Given the description of an element on the screen output the (x, y) to click on. 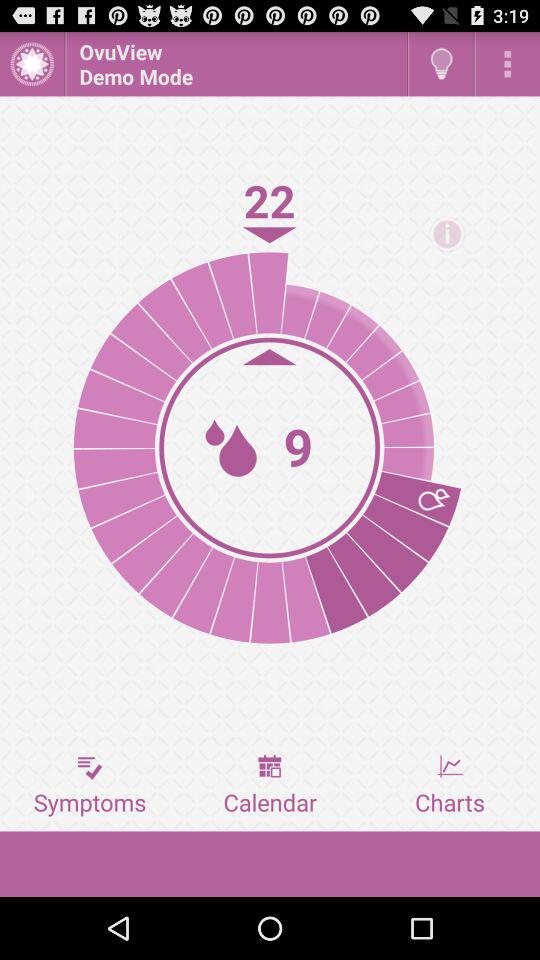
click the icon next to calendar (450, 785)
